Given the description of an element on the screen output the (x, y) to click on. 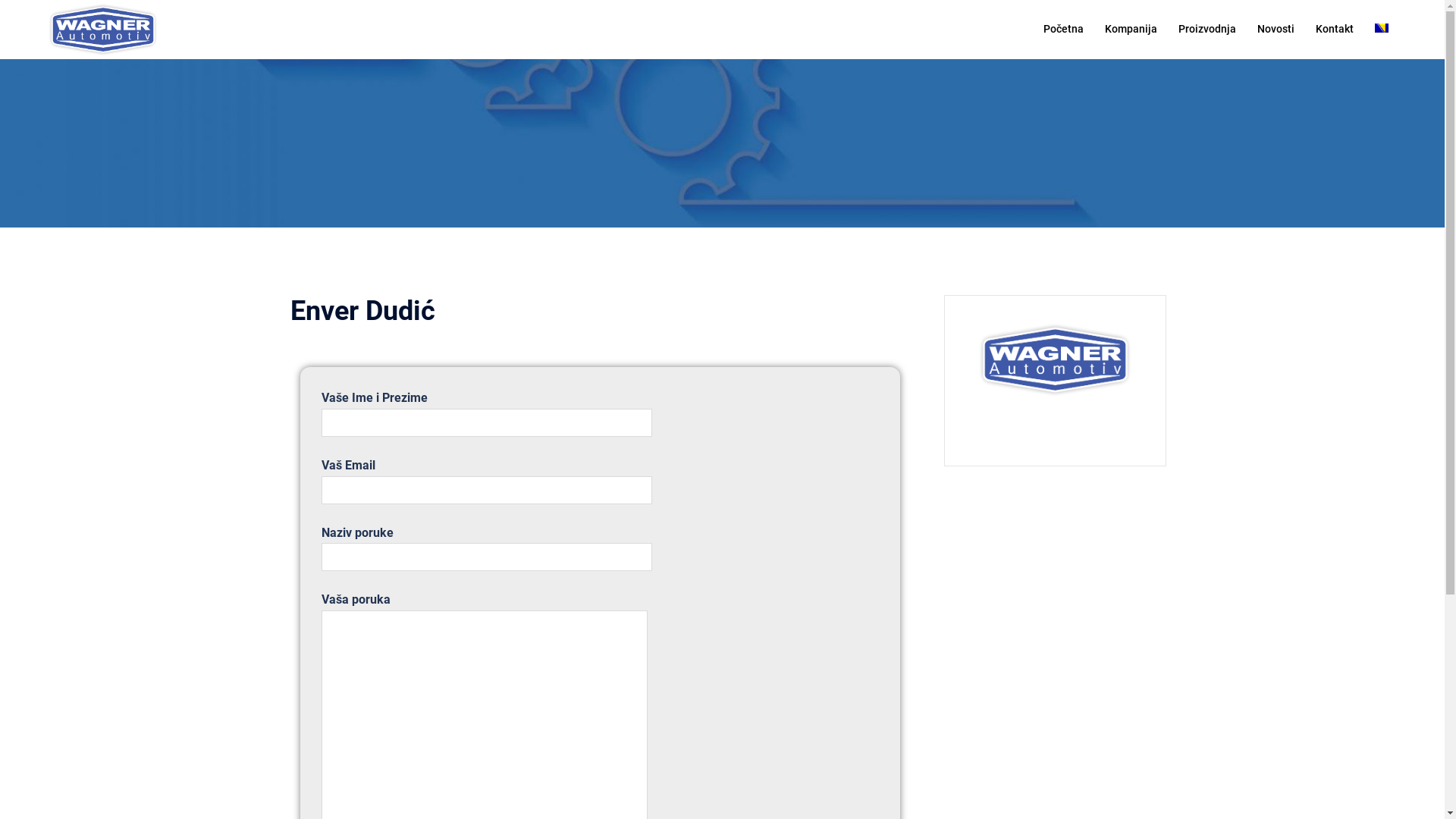
Novosti Element type: text (1275, 29)
Kompanija Element type: text (1130, 29)
Proizvodnja Element type: text (1207, 29)
WAGNER AUTOMOTIV Element type: hover (102, 28)
Kontakt Element type: text (1334, 29)
